Given the description of an element on the screen output the (x, y) to click on. 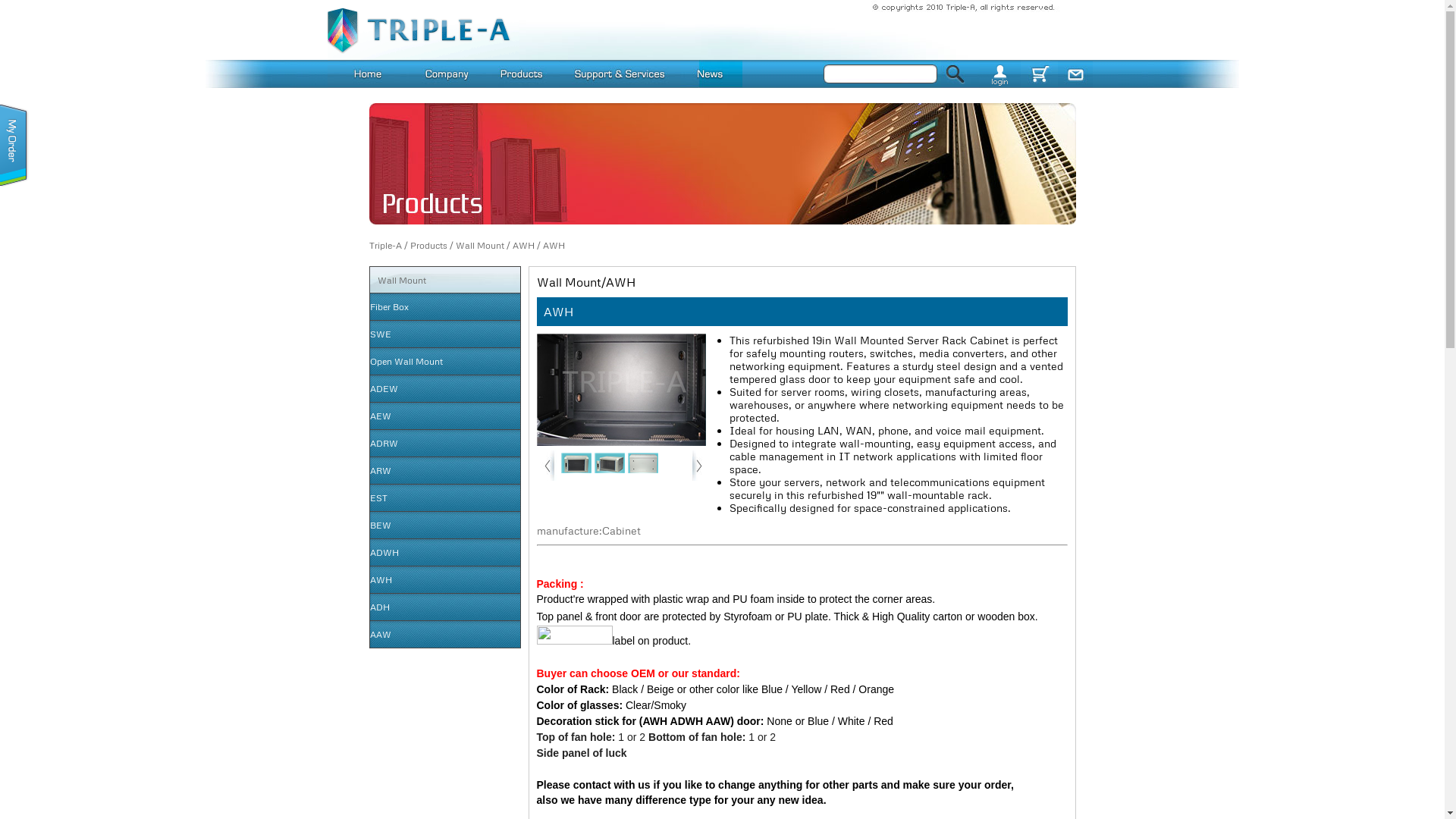
Wall Mount Element type: text (444, 279)
AWH Element type: text (553, 245)
Products Element type: text (427, 245)
Wall Mount Element type: text (479, 245)
AWH Element type: text (523, 245)
manufacture:Cabinet Element type: text (801, 530)
Triple-A Element type: text (384, 245)
